Given the description of an element on the screen output the (x, y) to click on. 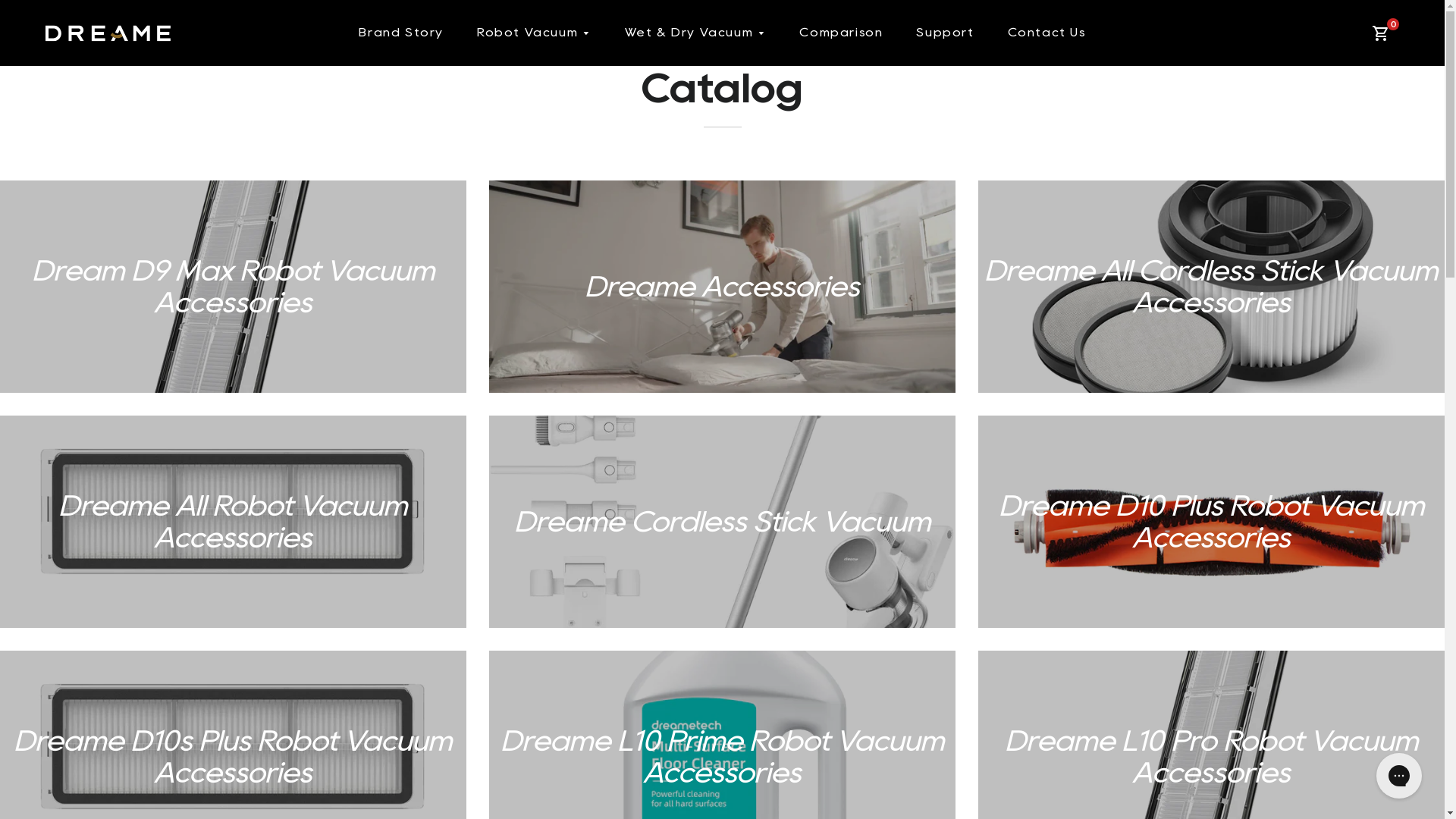
Dreame Accessories Element type: text (722, 286)
CART
0 Element type: text (1383, 32)
Robot Vacuum Element type: text (533, 33)
Dreame D10 Plus Robot Vacuum Accessories Element type: text (1211, 521)
Dreame Cordless Stick Vacuum Element type: text (722, 521)
Dreame All Cordless Stick Vacuum Accessories Element type: text (1211, 286)
Comparison Element type: text (840, 32)
Brand Story Element type: text (400, 32)
Wet & Dry Vacuum Element type: text (695, 33)
Contact Us Element type: text (1046, 32)
Support Element type: text (944, 32)
Dream D9 Max Robot Vacuum Accessories Element type: text (233, 286)
Gorgias live chat messenger Element type: hover (1398, 775)
Dreame All Robot Vacuum Accessories Element type: text (233, 521)
